Given the description of an element on the screen output the (x, y) to click on. 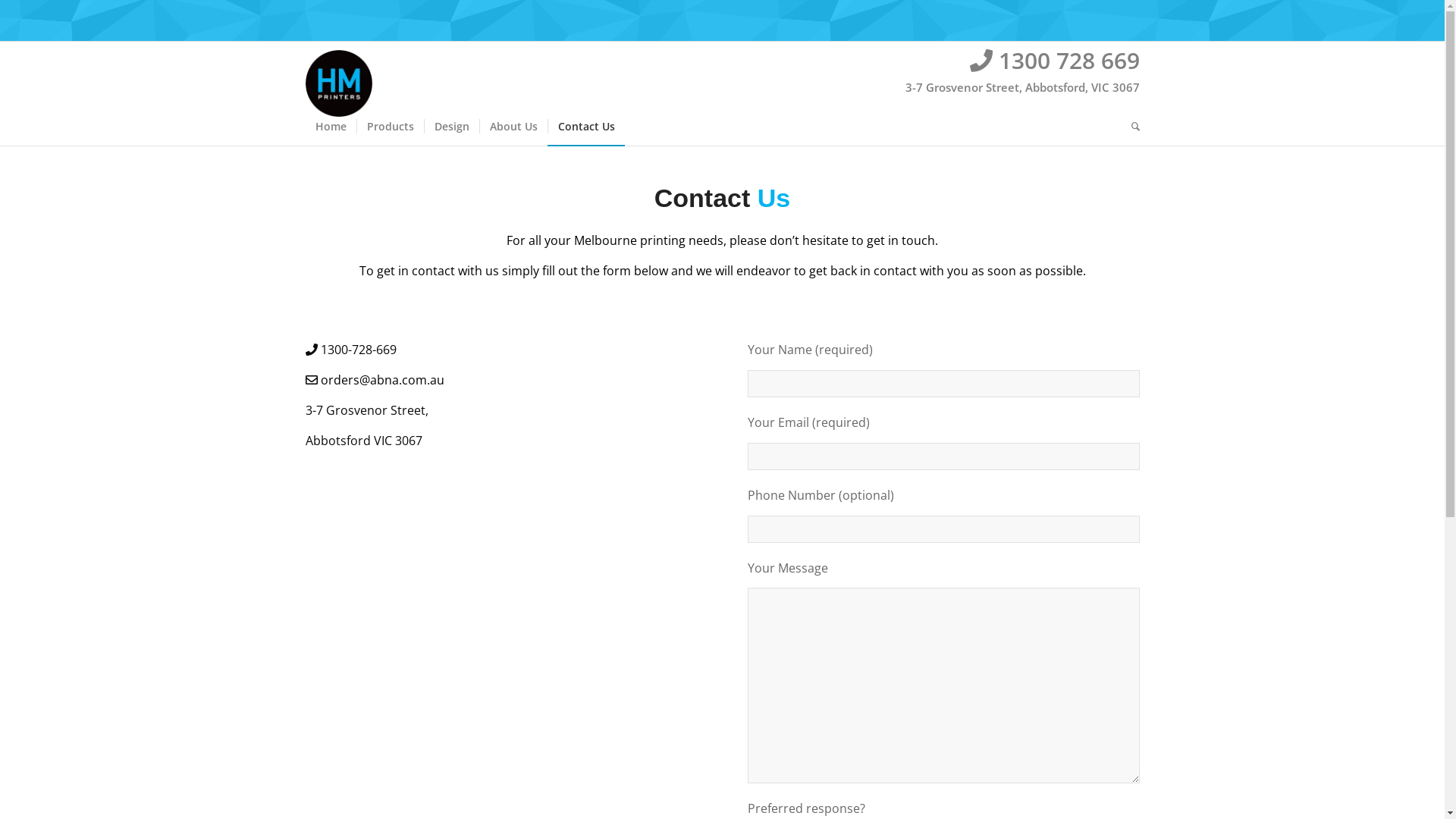
1300 728 669 Element type: text (1068, 59)
Contact Us Element type: text (585, 126)
hm-printers Element type: hover (337, 83)
1300-728-669 Element type: text (357, 349)
orders@abna.com.au Element type: text (381, 379)
Design Element type: text (450, 126)
Home Element type: text (329, 126)
Products Element type: text (389, 126)
About Us Element type: text (513, 126)
